Given the description of an element on the screen output the (x, y) to click on. 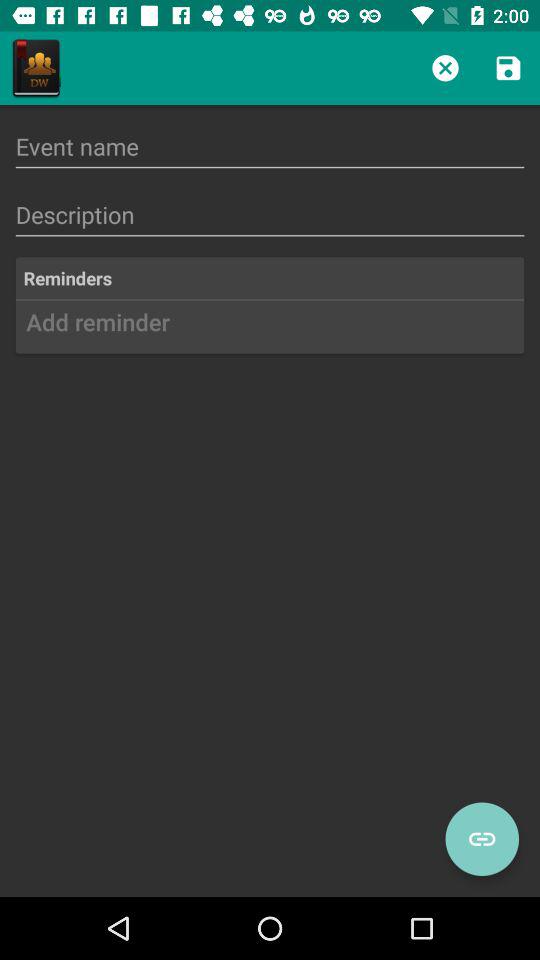
turn off item above the reminders (269, 214)
